Given the description of an element on the screen output the (x, y) to click on. 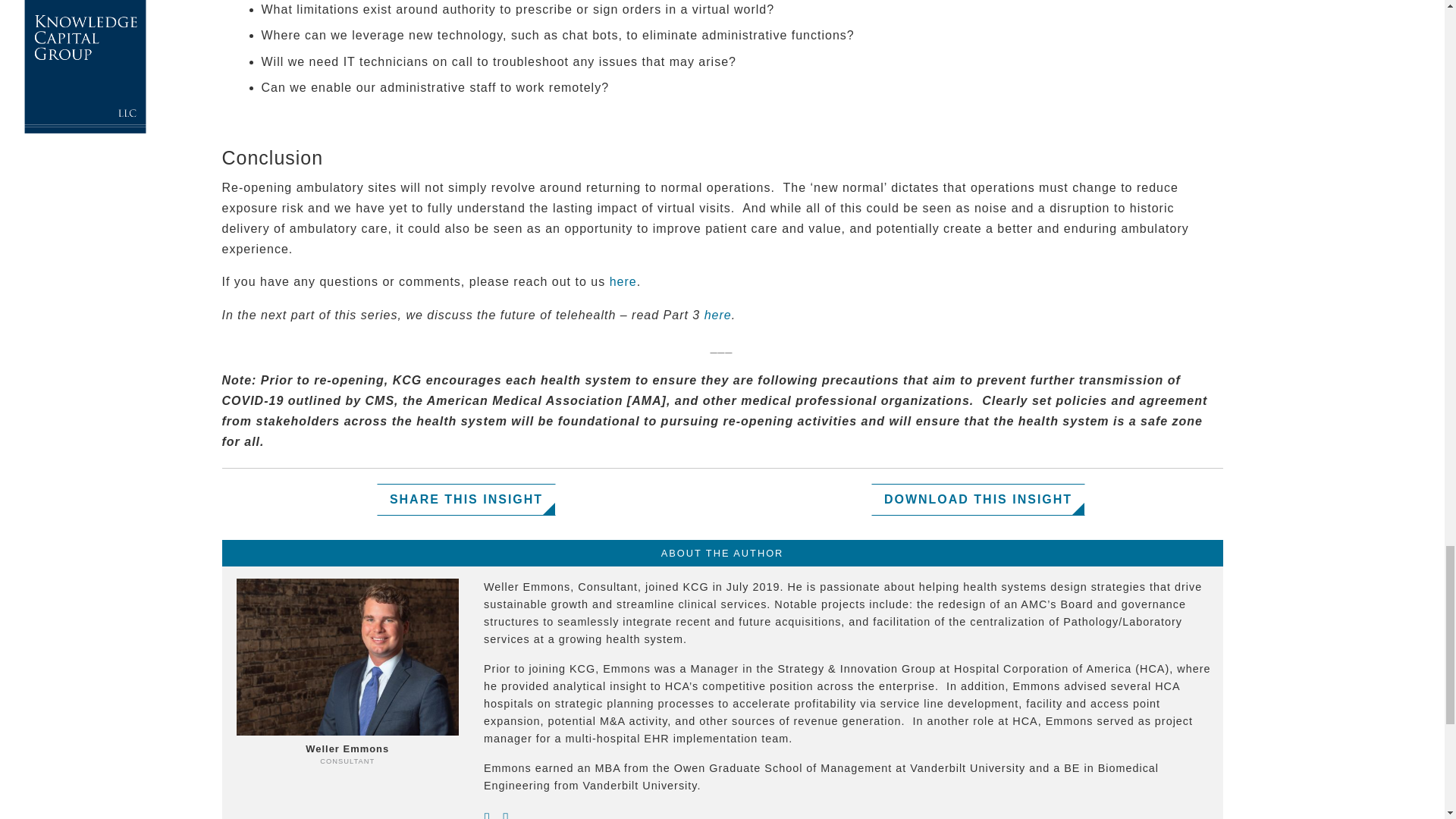
here (718, 314)
DOWNLOAD THIS INSIGHT (977, 499)
here (623, 281)
SHARE THIS INSIGHT (466, 499)
